Given the description of an element on the screen output the (x, y) to click on. 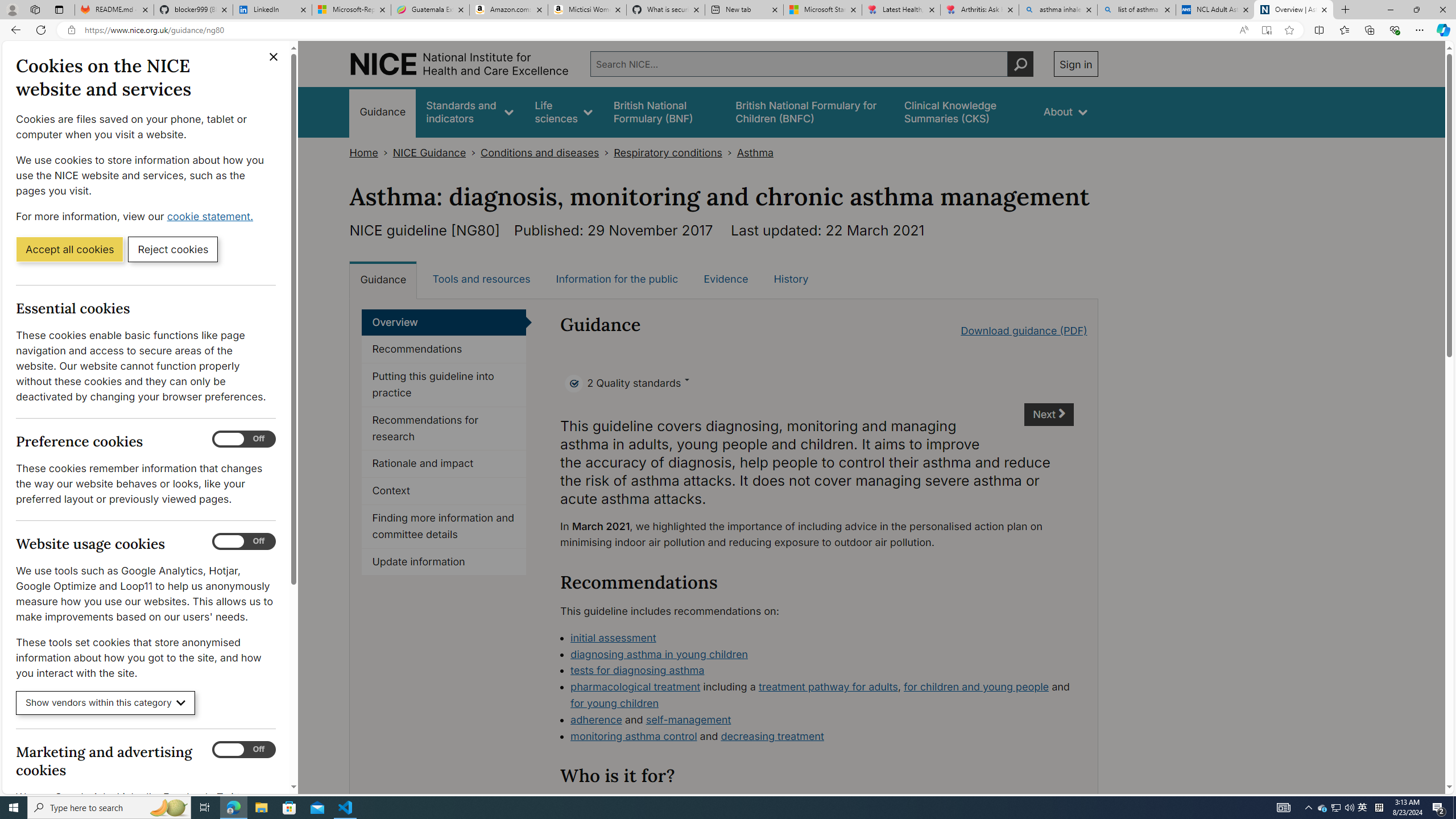
Tools and resources (481, 279)
Tools and resources (481, 279)
Guidance (383, 279)
list of asthma inhalers uk - Search (1136, 9)
Respiratory conditions (667, 152)
History (790, 279)
Recommendations (443, 349)
Perform search (1020, 63)
Evidence (725, 279)
